Given the description of an element on the screen output the (x, y) to click on. 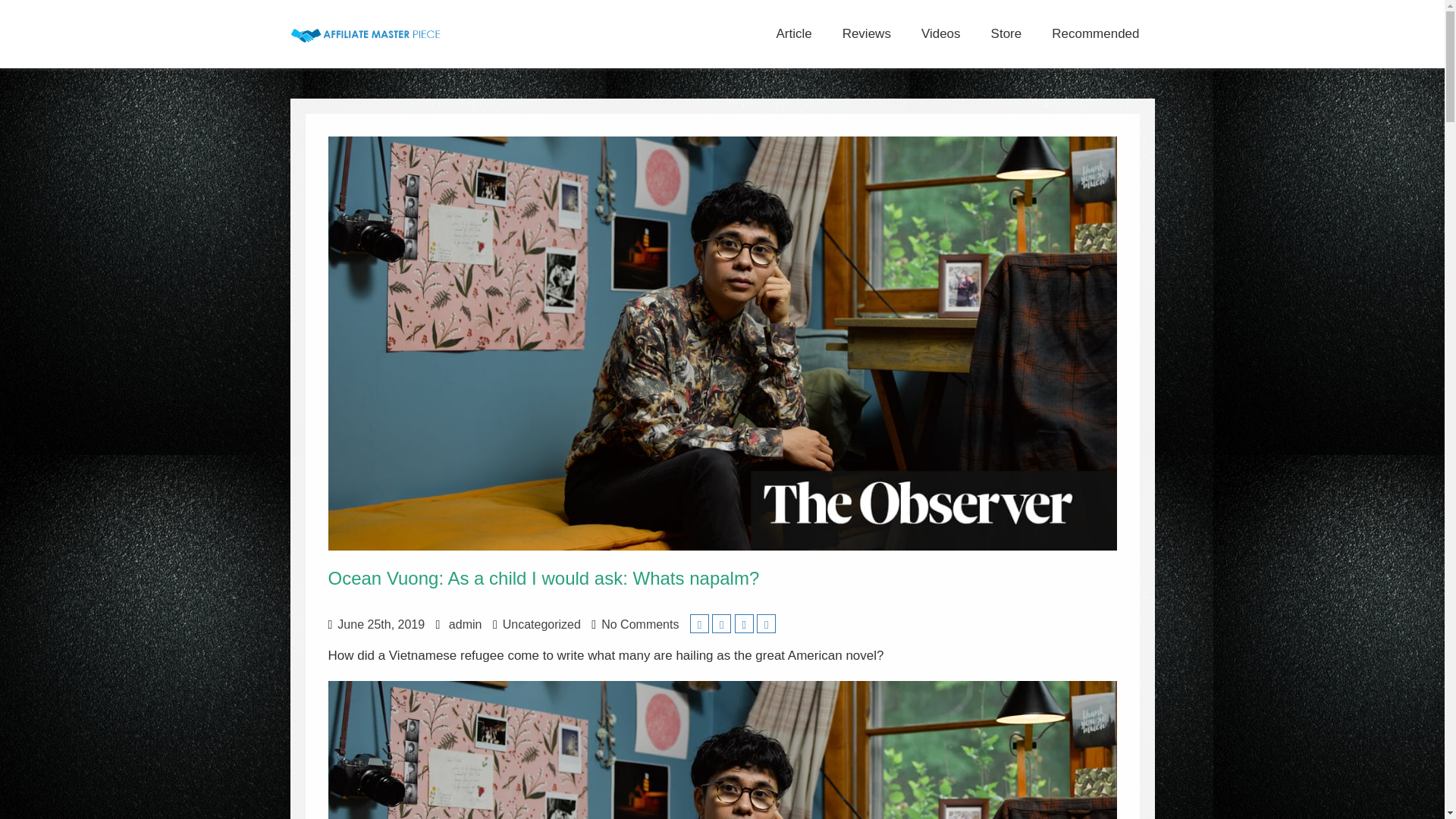
Recommended (1095, 33)
Share on Facebook. (720, 623)
admin (464, 624)
Article (793, 33)
Share on LinkedIn (744, 623)
Videos (940, 33)
Posts by admin (464, 624)
Reviews (866, 33)
Store (1005, 33)
